Given the description of an element on the screen output the (x, y) to click on. 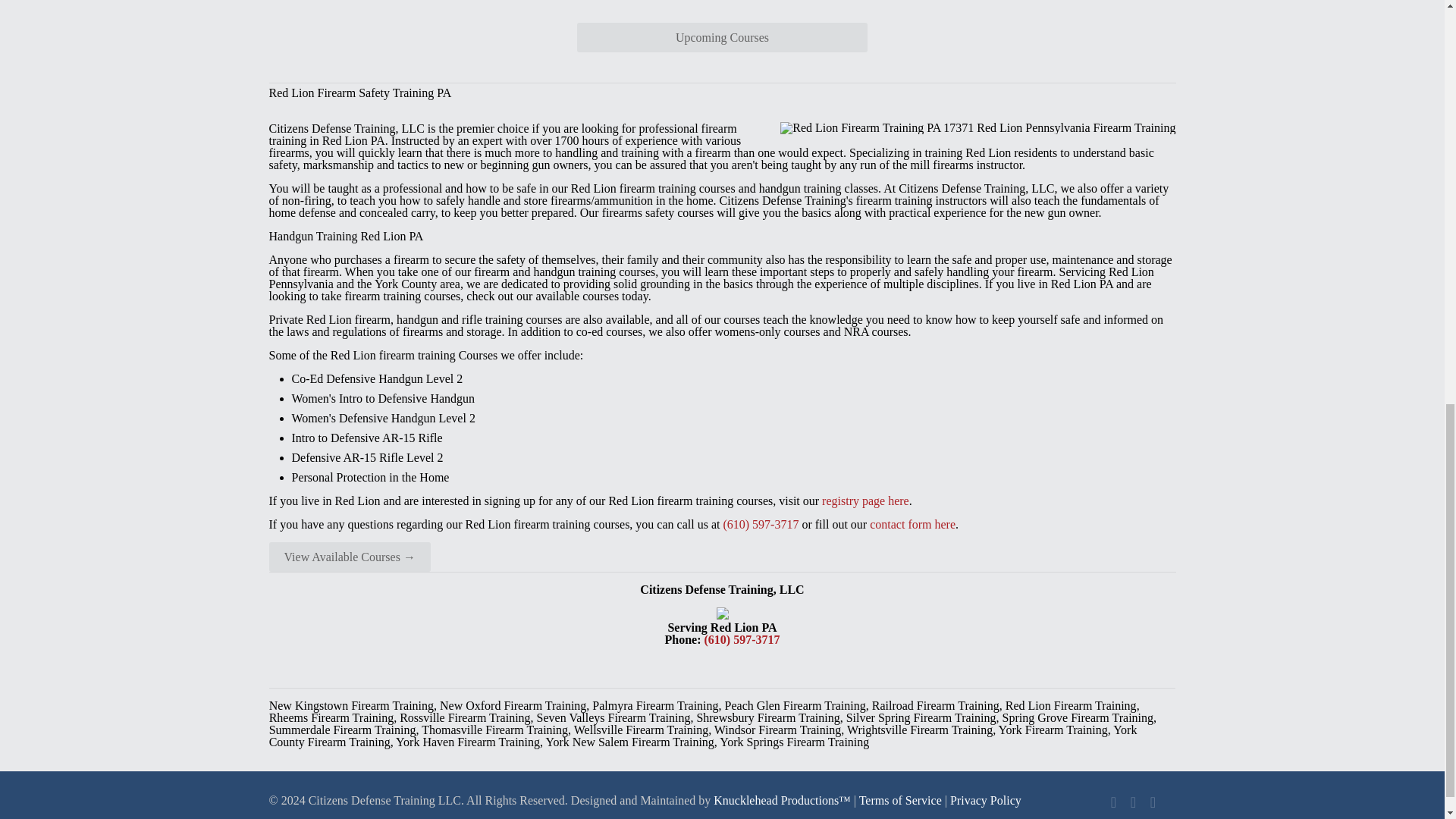
Thomasville Firearm Training (494, 729)
Red Lion Firearm Training (1071, 705)
Spring Grove Firearm Training (1078, 717)
Instagram (1152, 803)
Facebook (1113, 803)
registry page here (865, 500)
Palmyra Firearm Training (654, 705)
Windsor Firearm Training (777, 729)
LinkedIn (1132, 803)
Wellsville Firearm Training (640, 729)
